Given the description of an element on the screen output the (x, y) to click on. 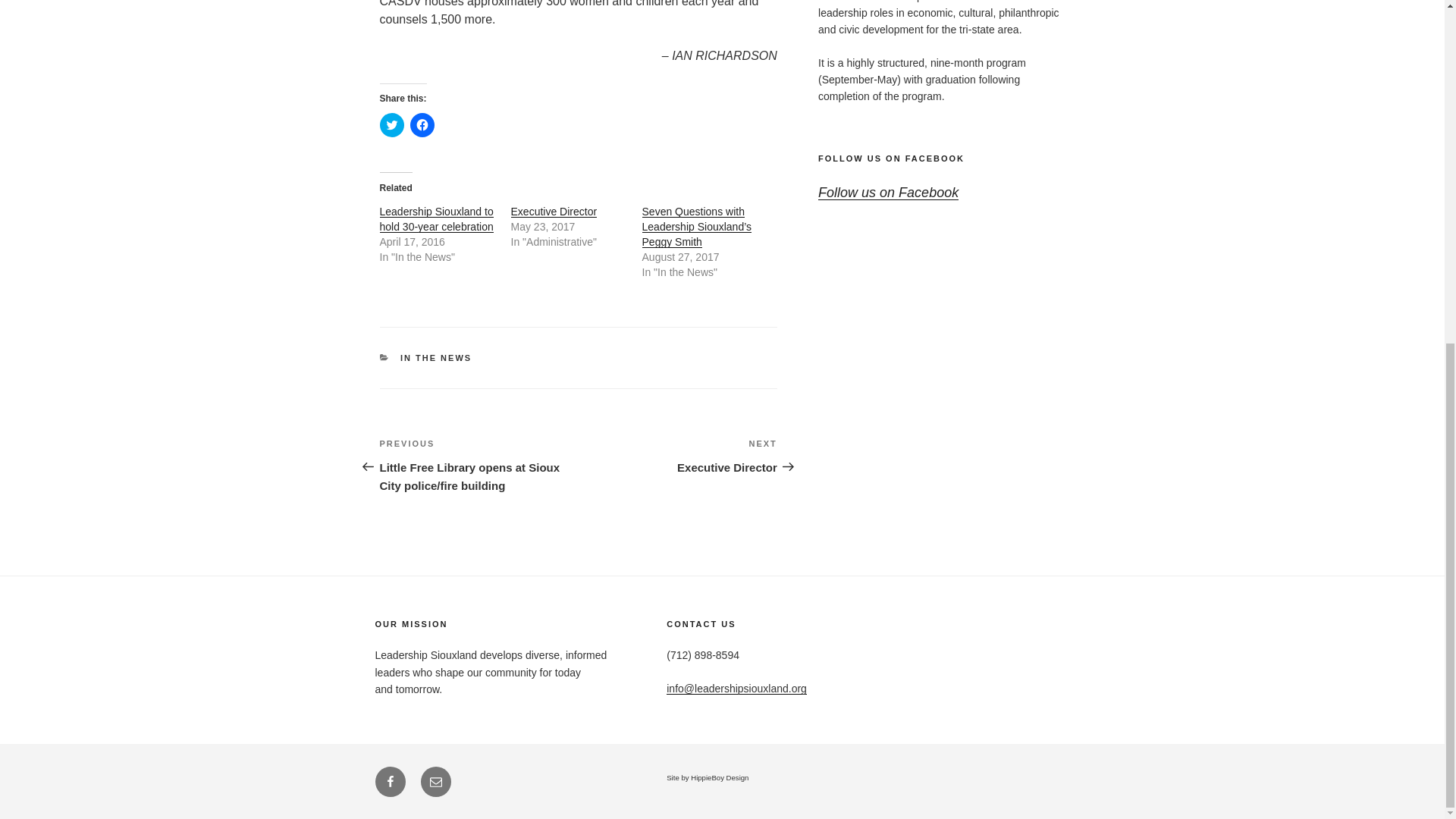
Executive Director (553, 211)
Click to share on Facebook (421, 125)
Leadership Siouxland to hold 30-year celebration (435, 218)
Click to share on Twitter (390, 125)
